Given the description of an element on the screen output the (x, y) to click on. 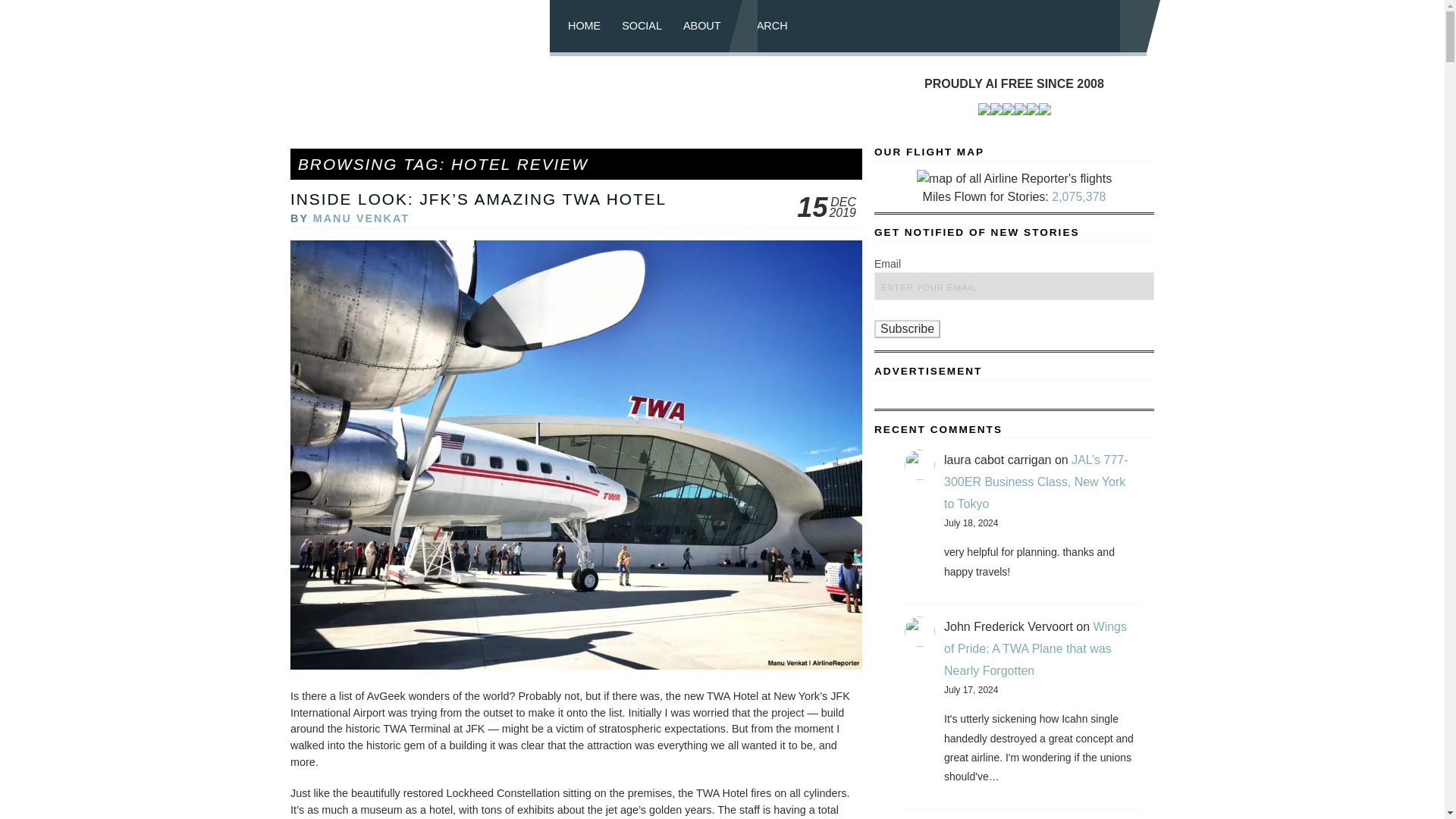
MANU VENKAT (361, 218)
AirlineReporter (425, 28)
Subscribe (907, 329)
Posts by Manu Venkat (361, 218)
